Given the description of an element on the screen output the (x, y) to click on. 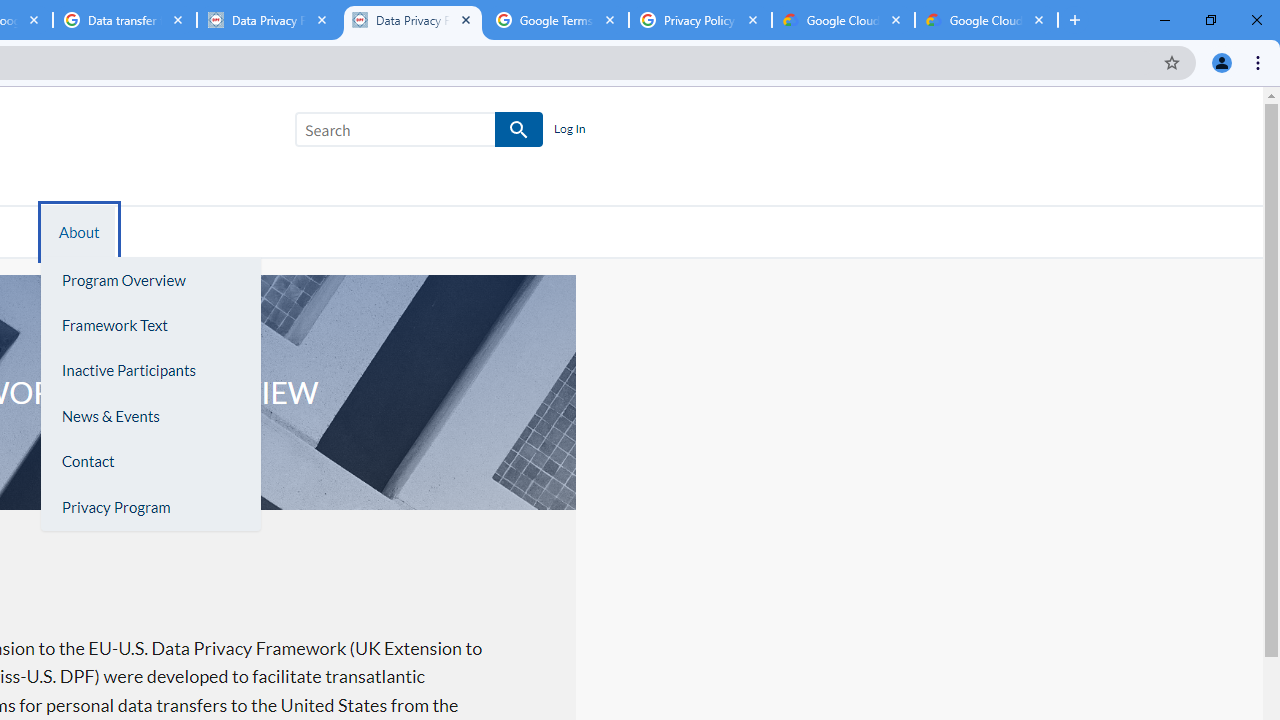
Data Privacy Framework (412, 20)
Google Cloud Privacy Notice (843, 20)
Log In (569, 129)
Inactive Participants (149, 370)
Data Privacy Framework (268, 20)
Privacy Program (149, 507)
Framework Text (149, 325)
Contact (149, 462)
